Given the description of an element on the screen output the (x, y) to click on. 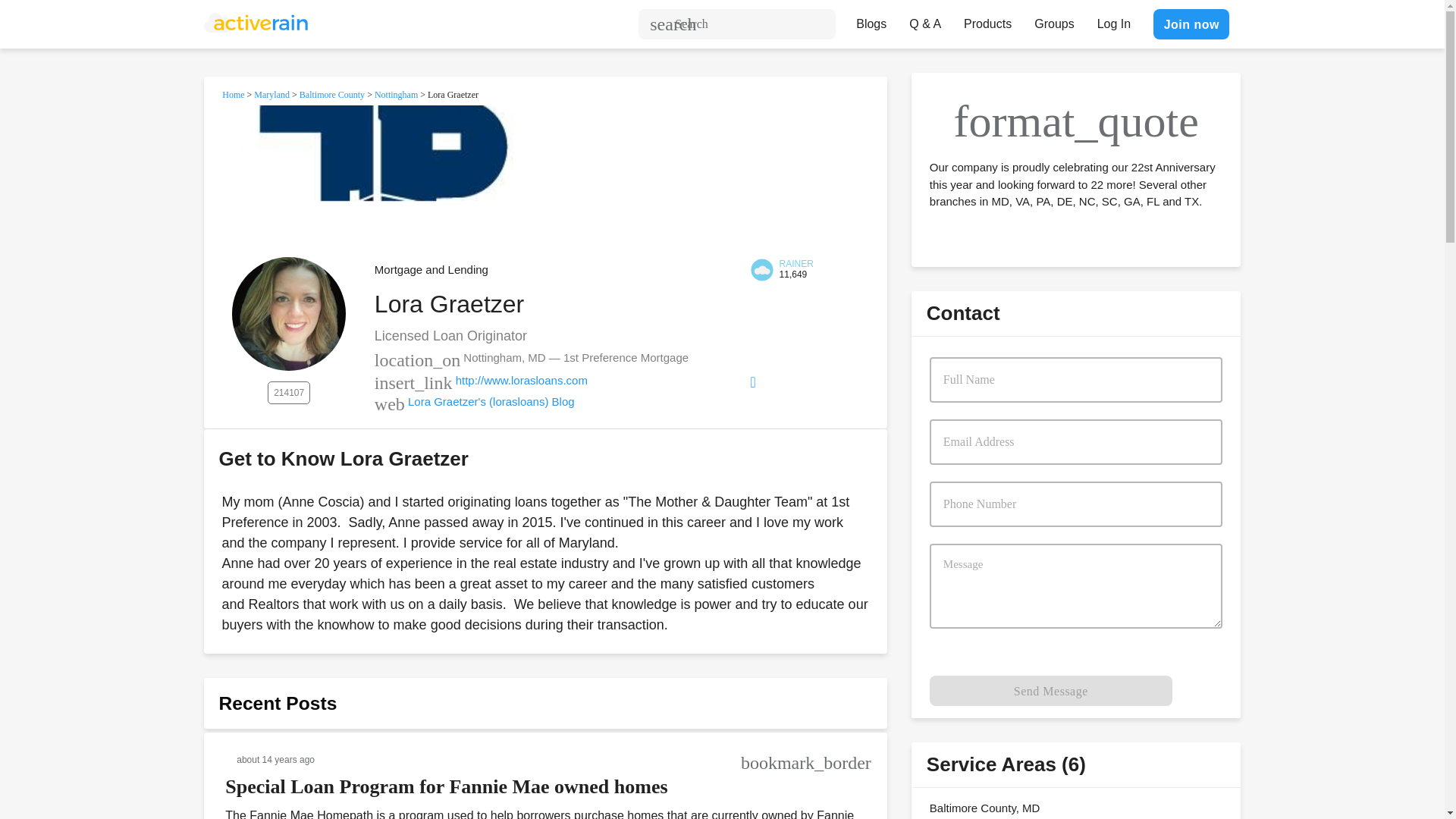
Log In (1113, 19)
Special Loan Program for Fannie Mae owned homes (445, 786)
Recent Posts (277, 702)
Home (233, 94)
Products (986, 19)
Nottingham (395, 94)
Send Message (1051, 690)
Groups (1053, 19)
Join now (1190, 24)
Baltimore County (332, 94)
